Given the description of an element on the screen output the (x, y) to click on. 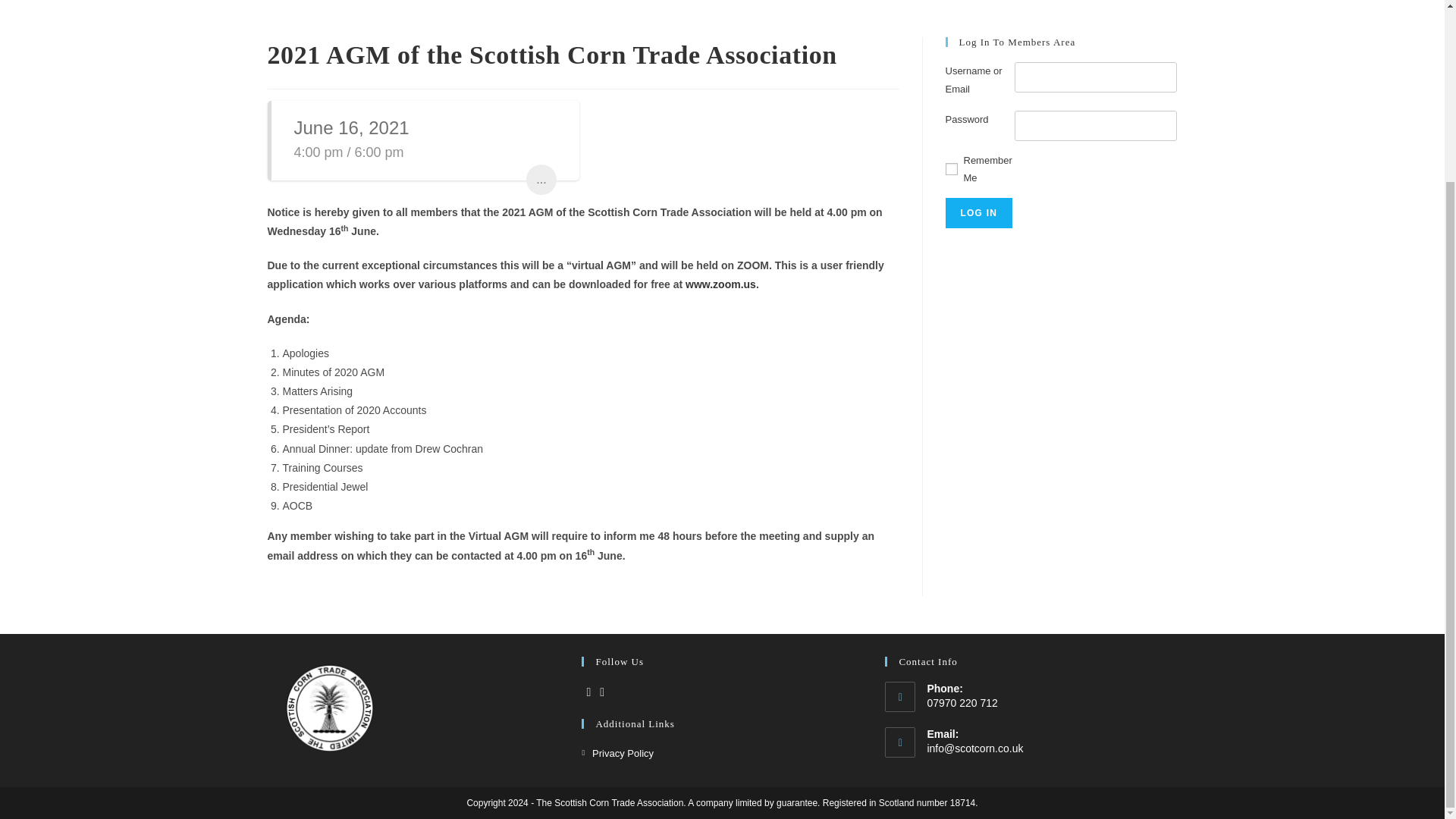
Privacy Policy (616, 753)
Log In (977, 213)
www.zoom.us (720, 284)
forever (950, 168)
Log In (977, 213)
... (540, 179)
